Given the description of an element on the screen output the (x, y) to click on. 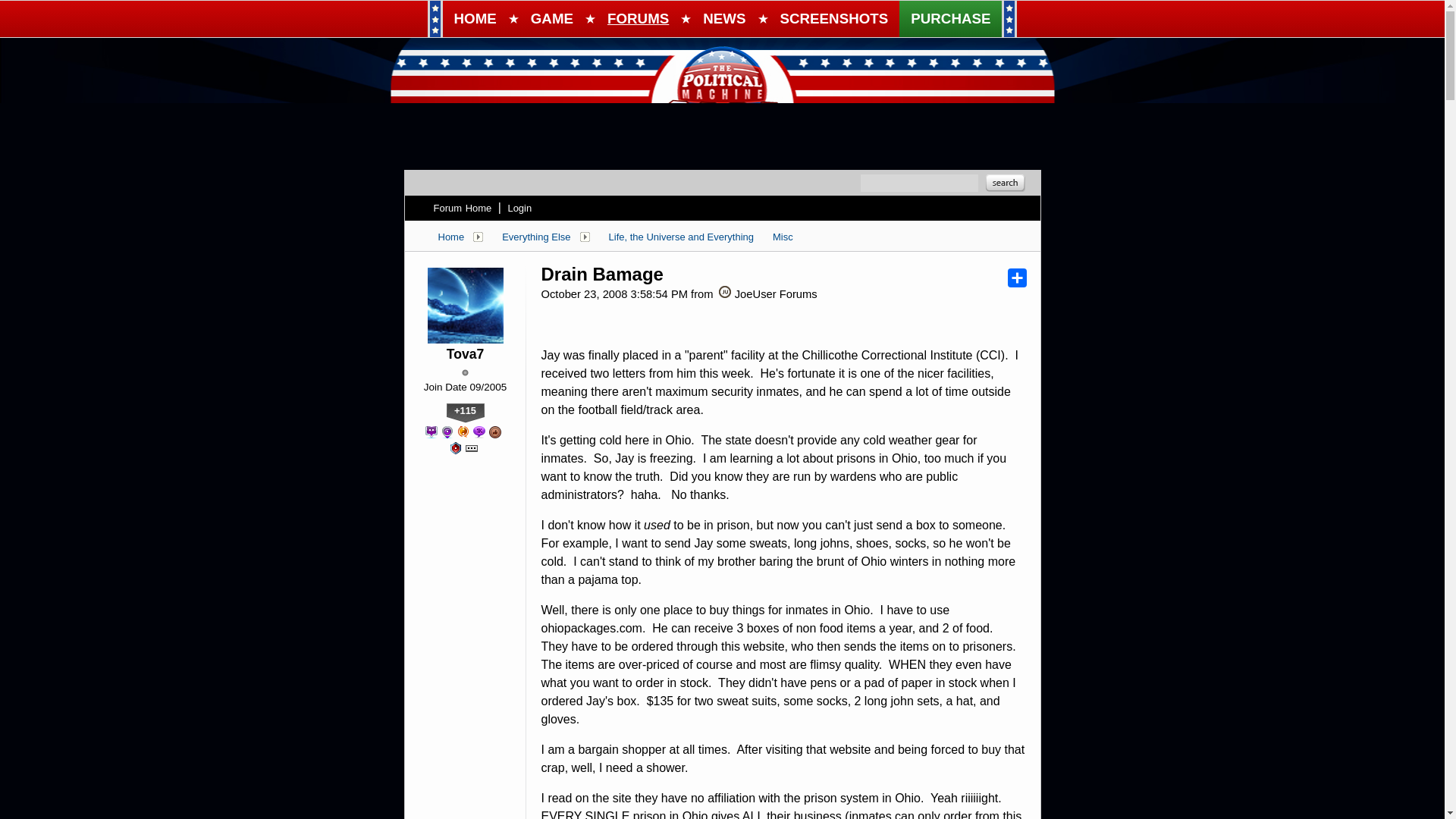
View Tova7's Karma (464, 413)
Tova7 (465, 354)
HOME (475, 18)
Super Active Commenter - Replied over 1,000 times (478, 431)
PURCHASE (950, 18)
JoeUser Forums (724, 291)
Drain Bamage (602, 274)
Loved - Received 100 Total Karma (494, 431)
SCREENSHOTS (834, 18)
Click user name to view more options. (465, 354)
Rank: 1 (464, 372)
Master Motivator - Gave 1000 Karma (462, 431)
Home (451, 236)
Forum Home (462, 208)
Misc (783, 236)
